Given the description of an element on the screen output the (x, y) to click on. 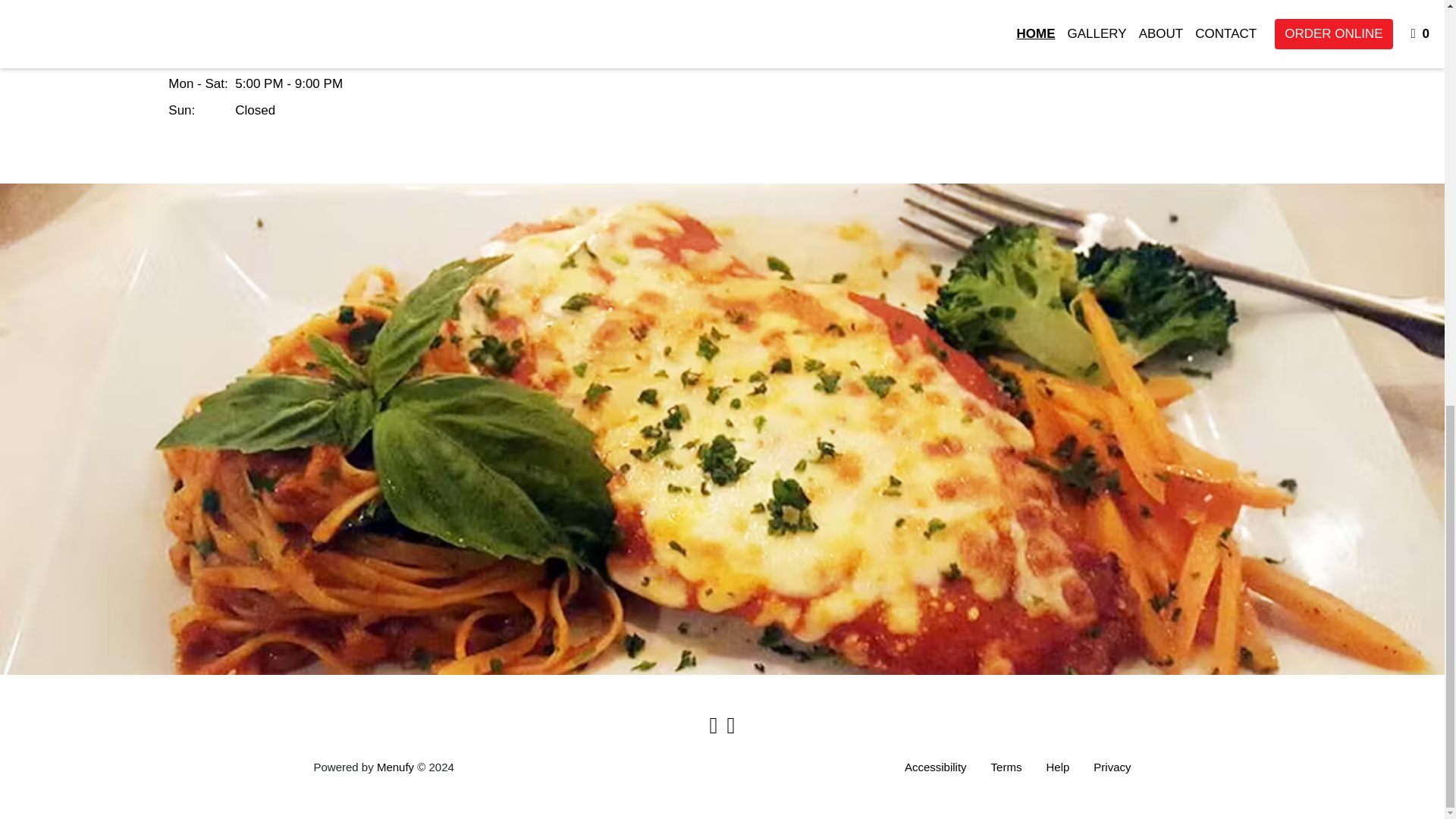
Terms (1005, 767)
Menufy (247, 4)
Accessibility (395, 766)
Help (935, 767)
Privacy (1057, 767)
